Given the description of an element on the screen output the (x, y) to click on. 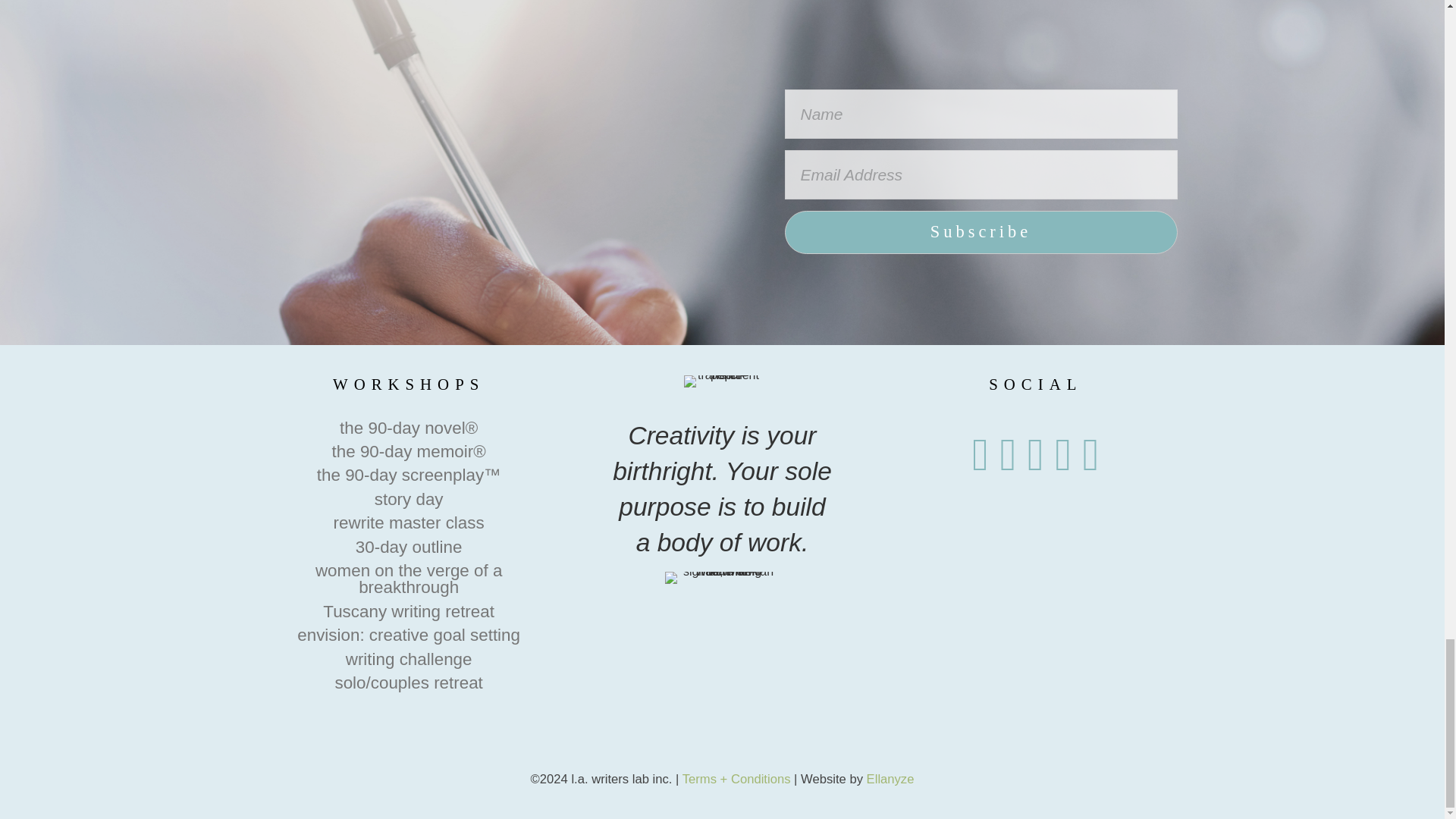
signature (721, 577)
pencil-heart-transparent (722, 381)
